Given the description of an element on the screen output the (x, y) to click on. 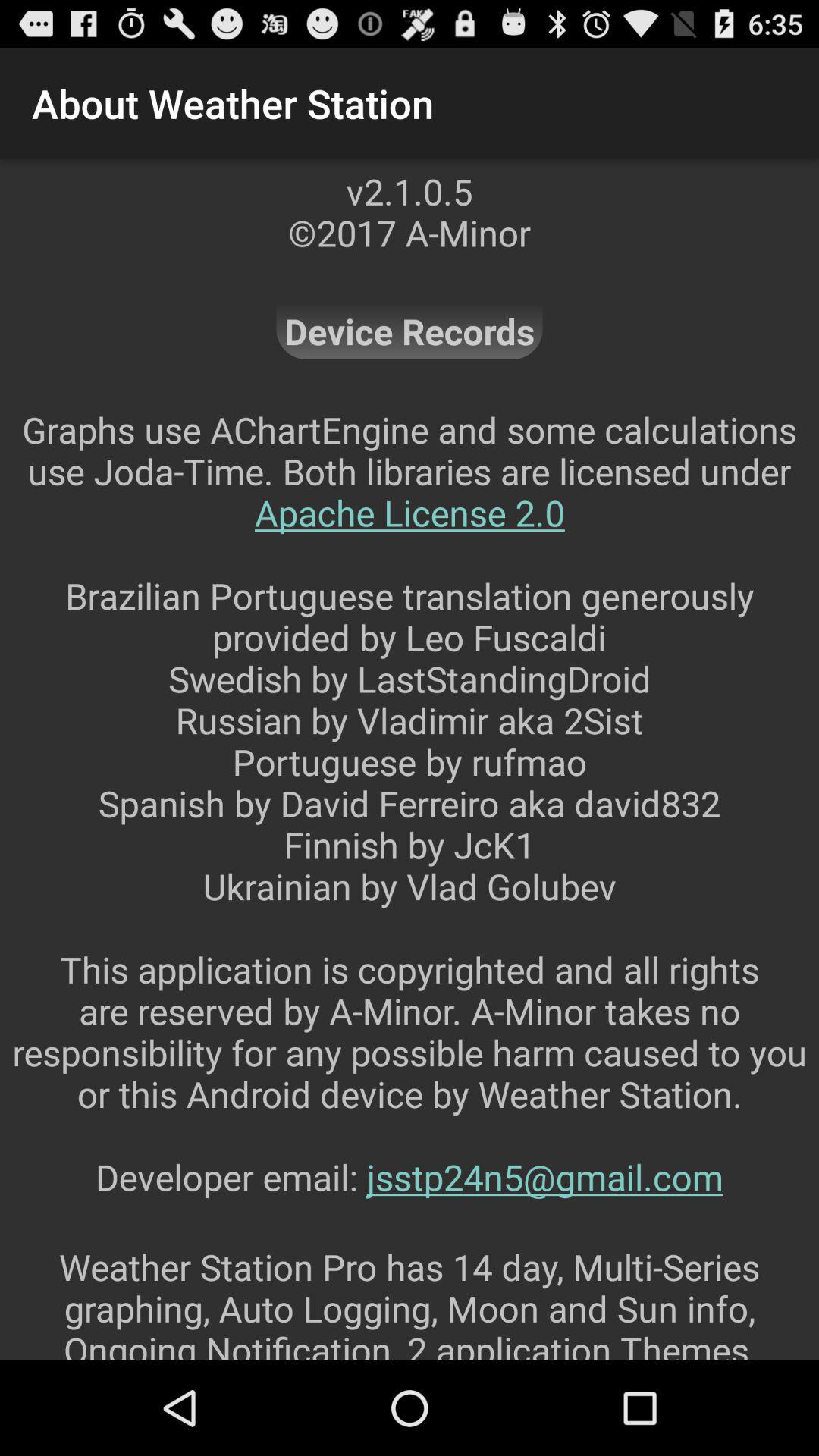
click graphs use achartengine item (409, 823)
